Given the description of an element on the screen output the (x, y) to click on. 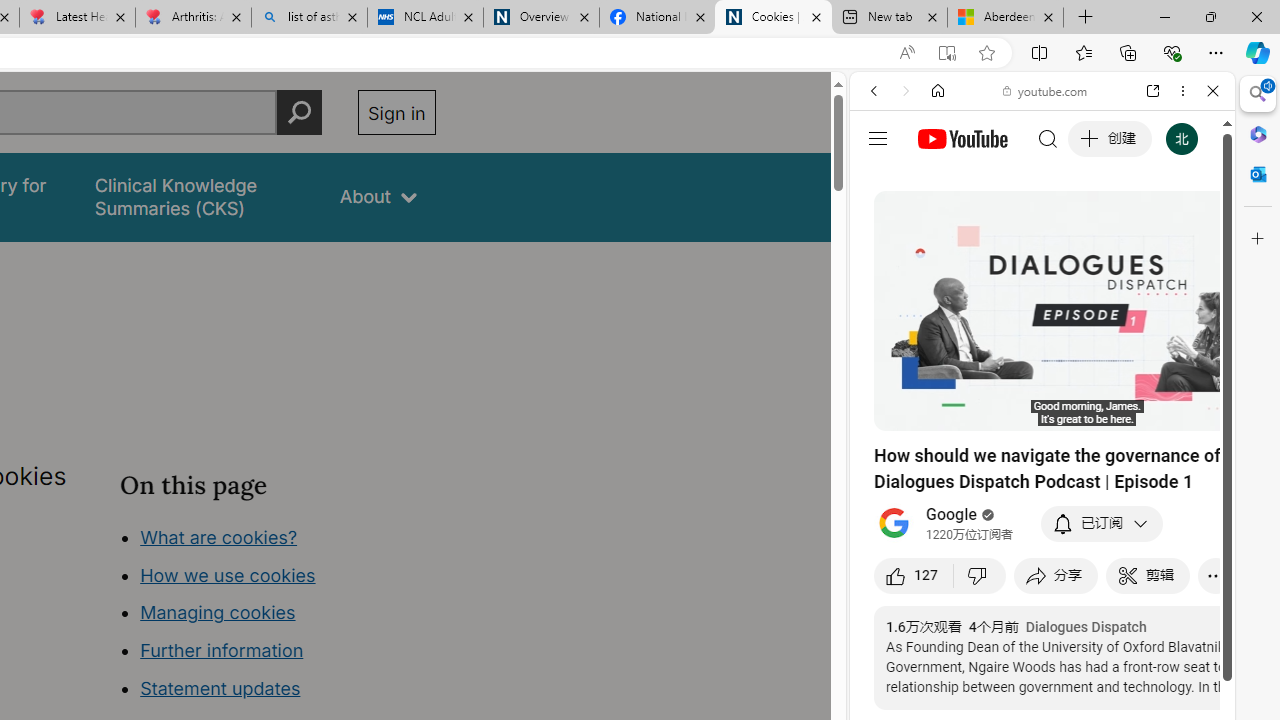
Search Filter, VIDEOS (1006, 228)
Open link in new tab (1153, 91)
Class: in-page-nav__list (277, 615)
